Given the description of an element on the screen output the (x, y) to click on. 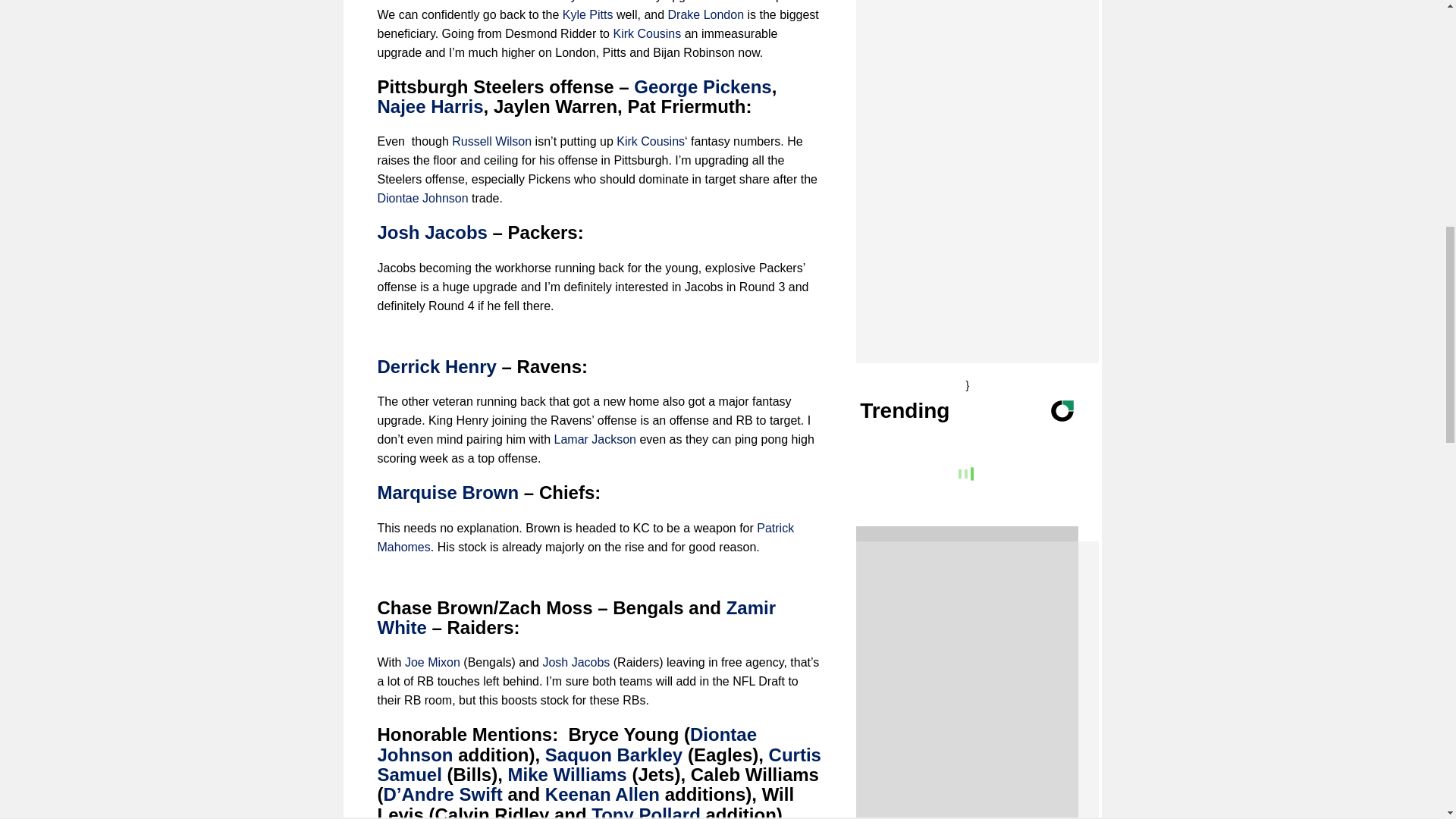
Russell Wilson (491, 141)
Joe Mixon (432, 662)
Drake London (706, 14)
Zamir White (576, 617)
Diontae Johnson (422, 197)
Saquon Barkley (613, 754)
Derrick Henry (436, 366)
Kyle Pitts (587, 14)
Josh Jacobs (575, 662)
Kirk Cousins (495, 1)
Keenan Allen (601, 793)
Najee Harris (430, 106)
Josh Jacobs (432, 231)
Kirk Cousins (649, 141)
Lamar Jackson (595, 439)
